Given the description of an element on the screen output the (x, y) to click on. 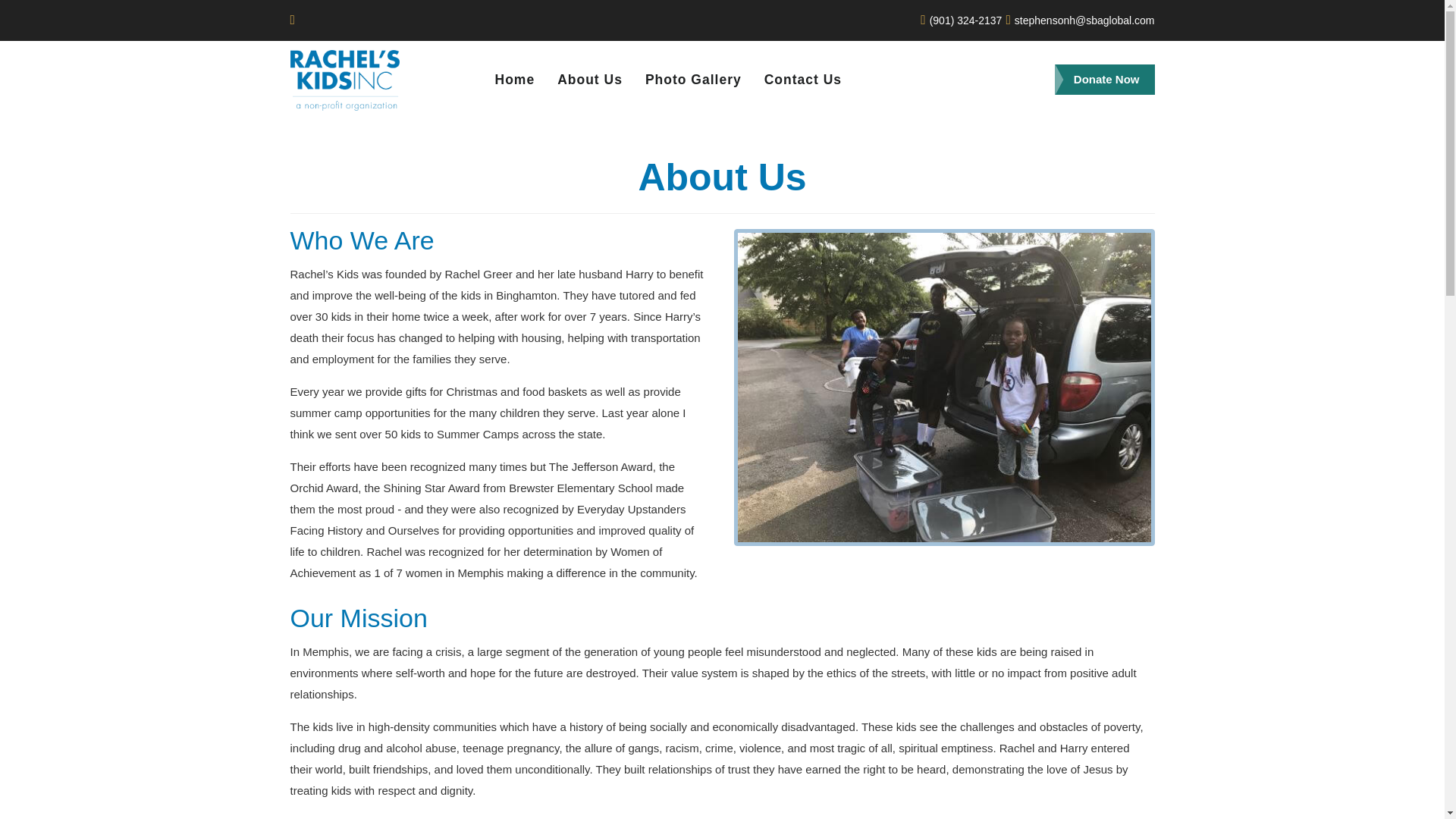
Loading up for camp (943, 388)
Donate Now (1104, 79)
Rachel's Kids, Inc. - A Non-Profit Organization (343, 79)
Photo Gallery (692, 79)
About Us (589, 79)
Contact Us (802, 79)
